Given the description of an element on the screen output the (x, y) to click on. 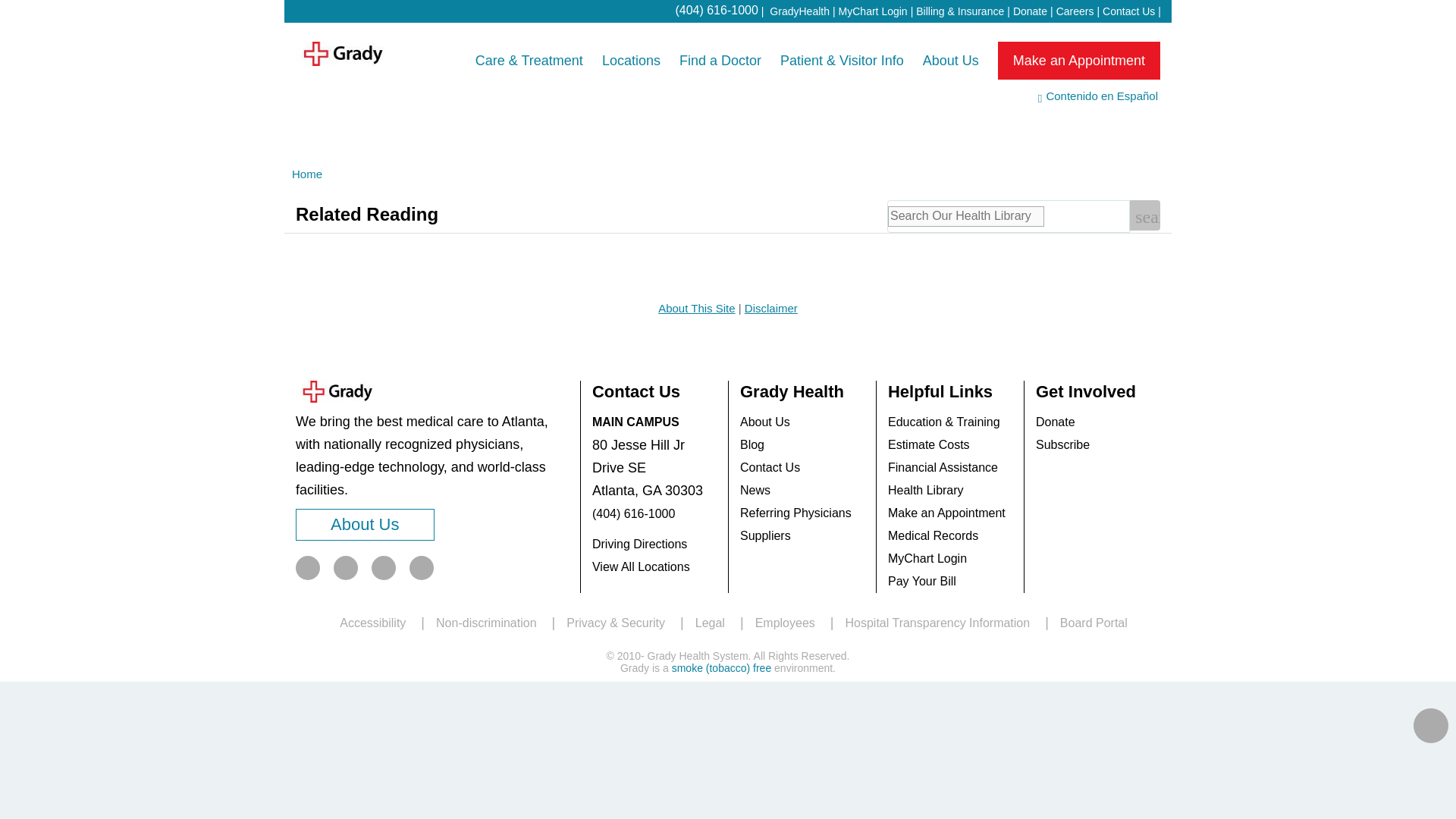
Contact Us (1128, 10)
Locations (631, 60)
Careers (1075, 10)
GradyHealth (799, 10)
Donate (1029, 10)
Find a Doctor (720, 60)
MyChart Login (872, 10)
Submit Health Library Search (1144, 214)
About Us (950, 60)
Make an Appointment (1078, 60)
